Given the description of an element on the screen output the (x, y) to click on. 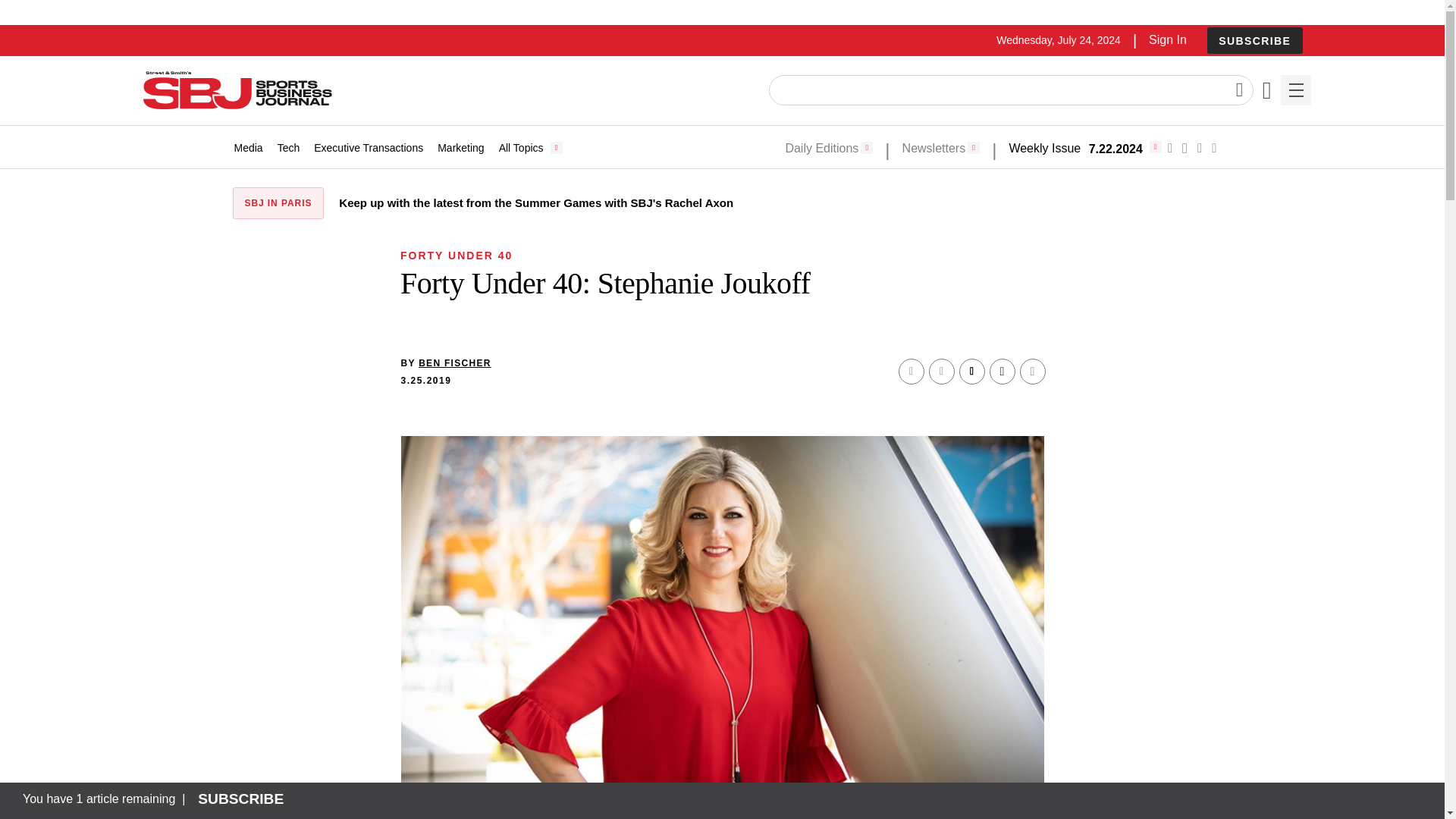
SIGN IN (1194, 324)
SUBSCRIBE (1255, 40)
Sign In (1167, 40)
SUBSCRIBE (1254, 40)
Menu (1294, 90)
